Given the description of an element on the screen output the (x, y) to click on. 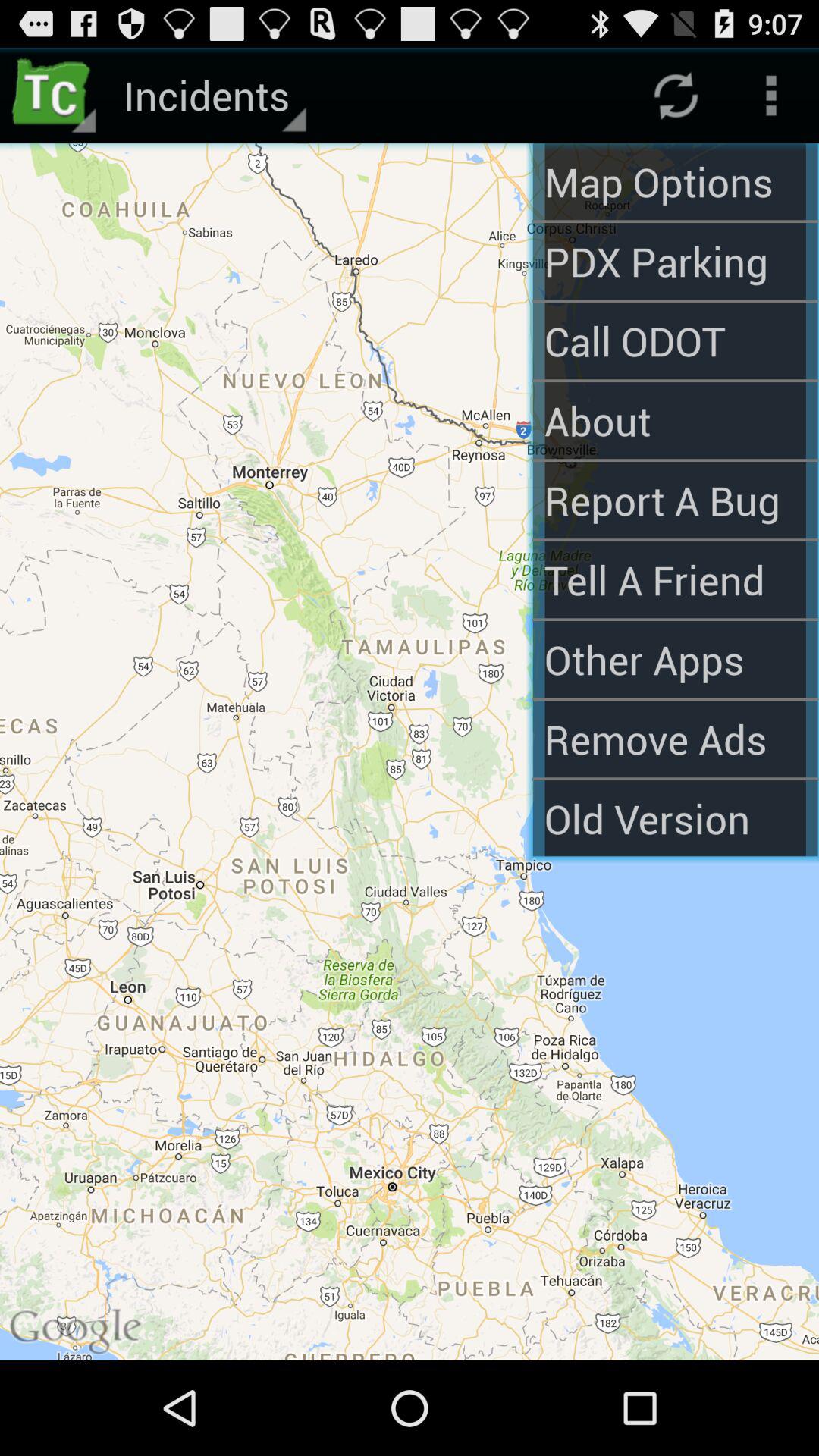
tap the app to the left of incidents icon (55, 95)
